Given the description of an element on the screen output the (x, y) to click on. 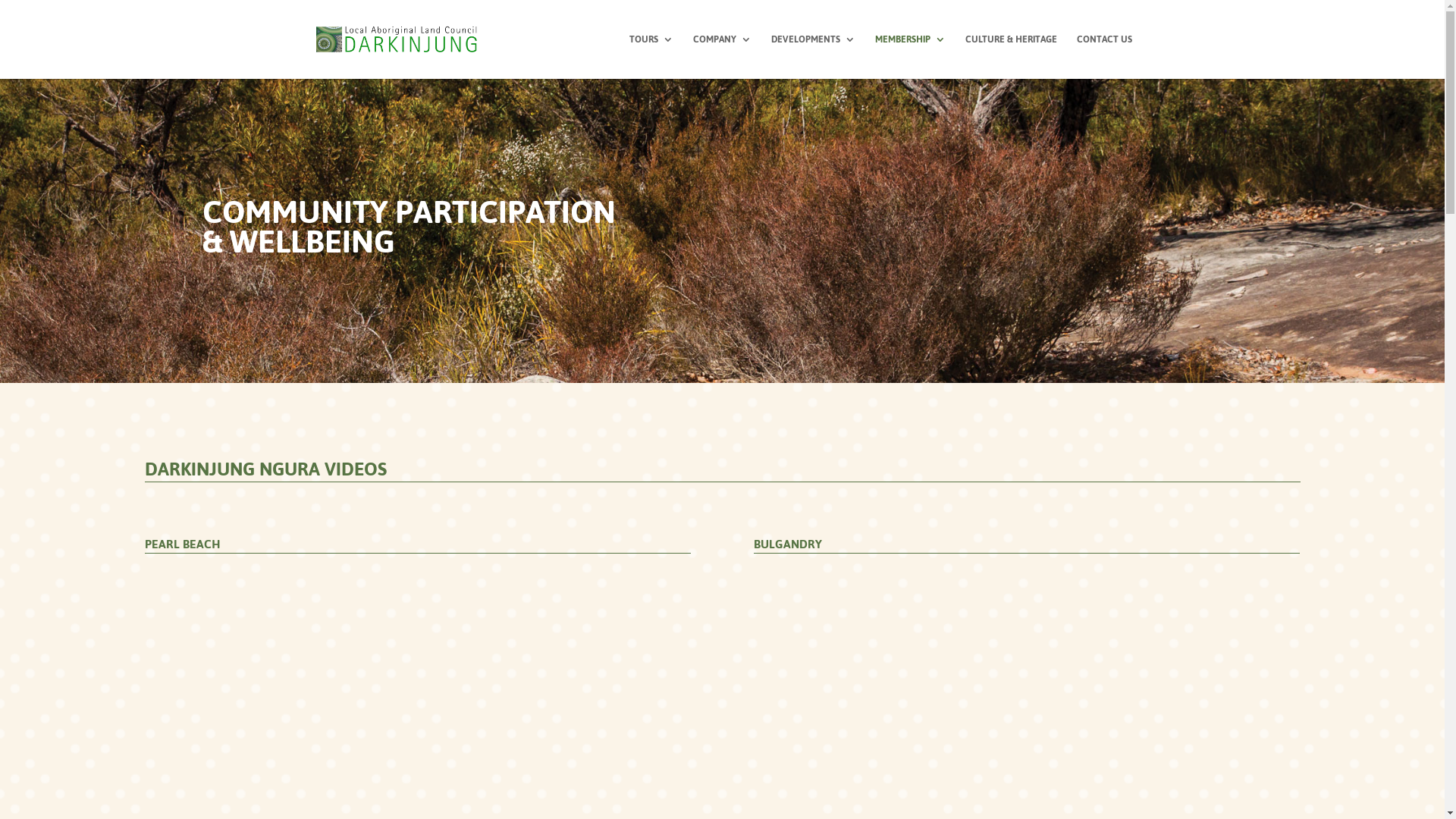
CULTURE & HERITAGE Element type: text (1010, 56)
TOURS Element type: text (651, 56)
DEVELOPMENTS Element type: text (812, 56)
COMPANY Element type: text (722, 56)
CONTACT US Element type: text (1104, 56)
MEMBERSHIP Element type: text (910, 56)
